Given the description of an element on the screen output the (x, y) to click on. 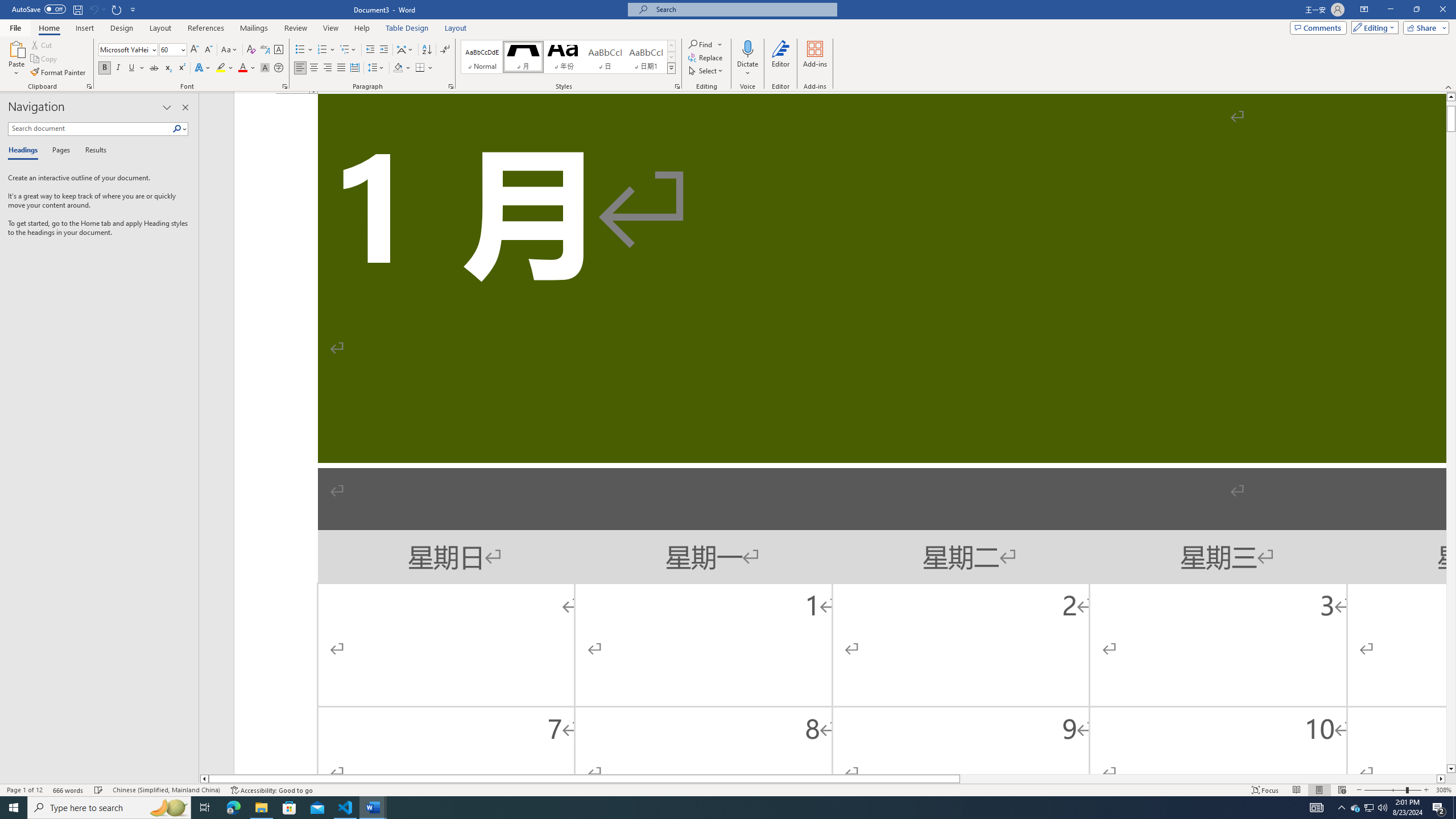
Line up (1450, 96)
Column left (203, 778)
Can't Undo (92, 9)
